Given the description of an element on the screen output the (x, y) to click on. 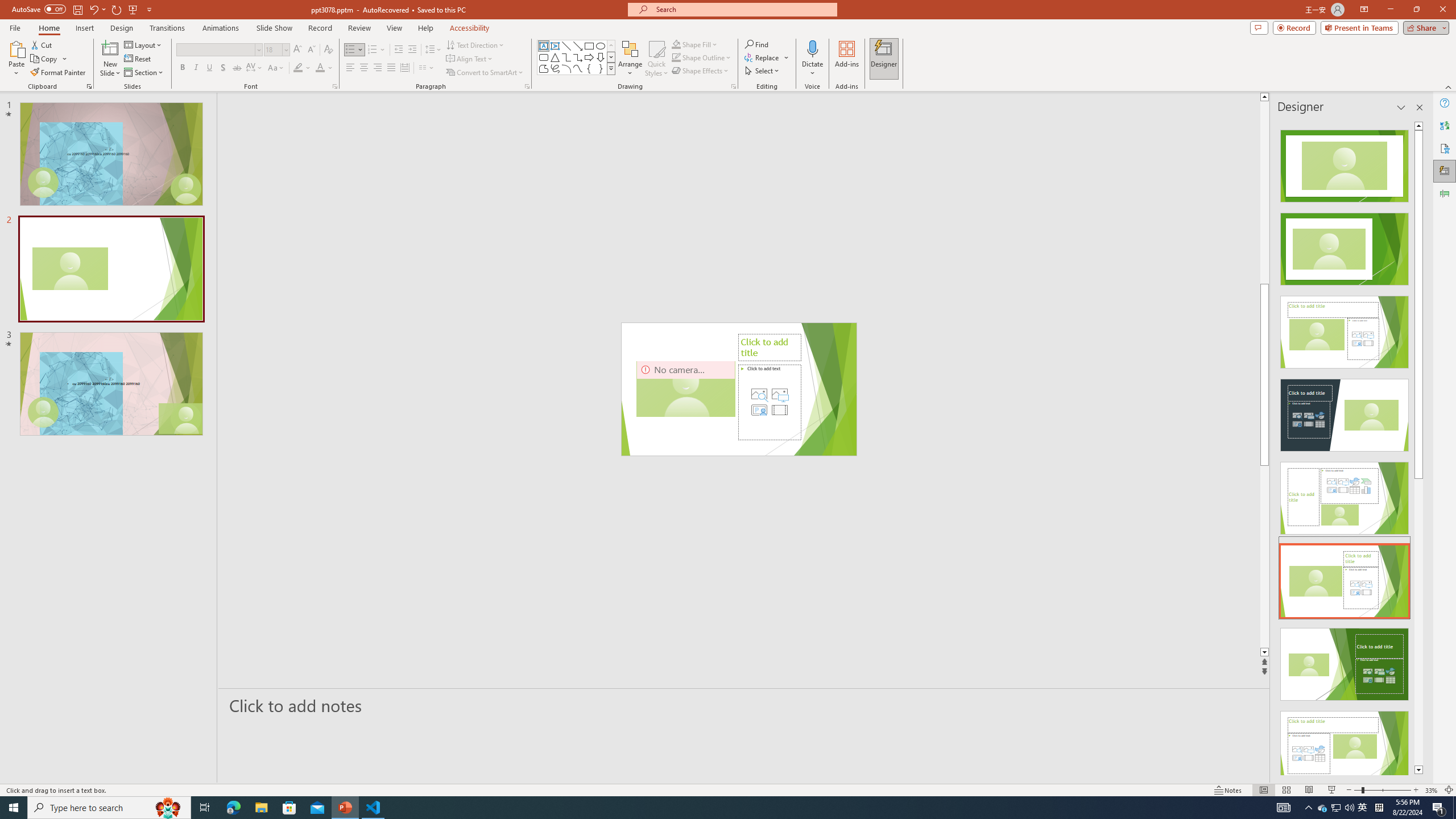
Title TextBox (663, 389)
Slide Notes (743, 705)
Stock Images (758, 394)
